Given the description of an element on the screen output the (x, y) to click on. 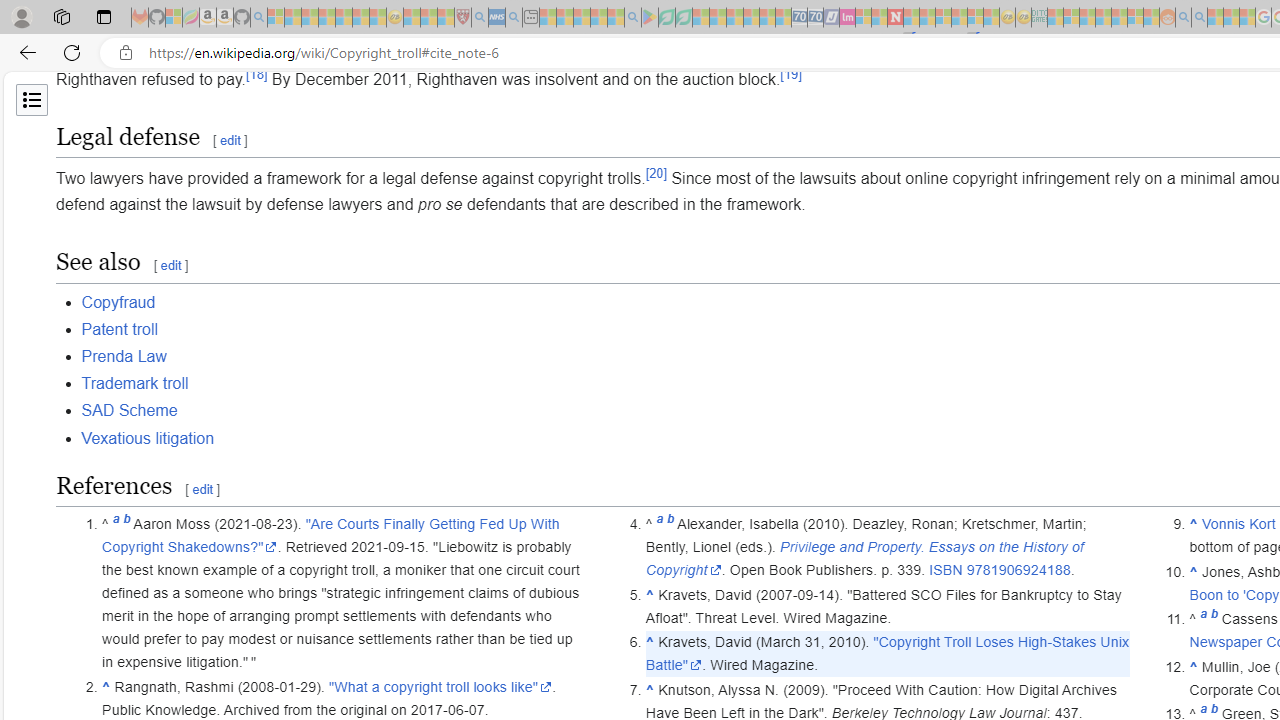
Jump up (1193, 666)
